Given the description of an element on the screen output the (x, y) to click on. 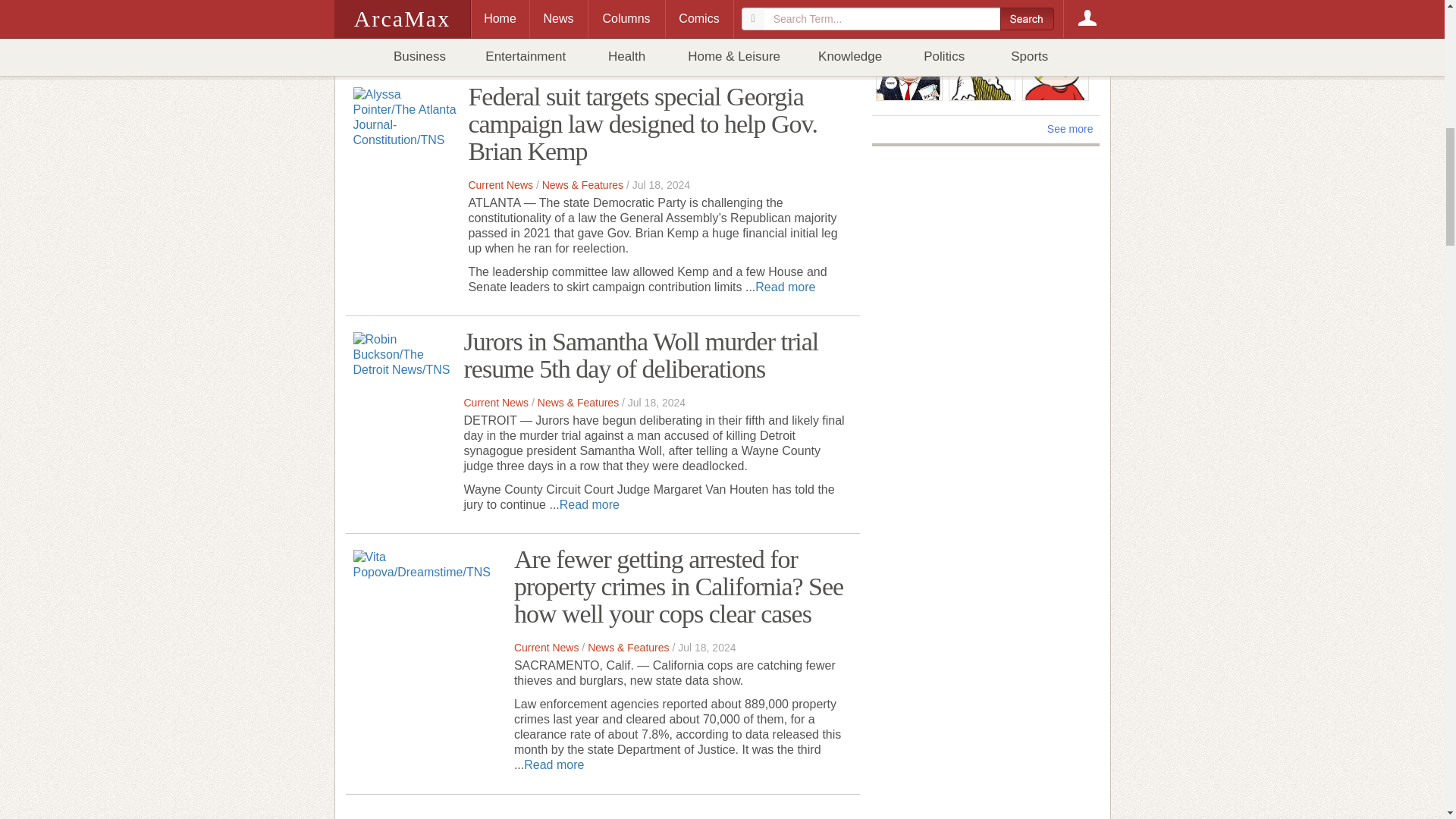
Current News (499, 184)
Read more (785, 286)
Read more (767, 41)
